Given the description of an element on the screen output the (x, y) to click on. 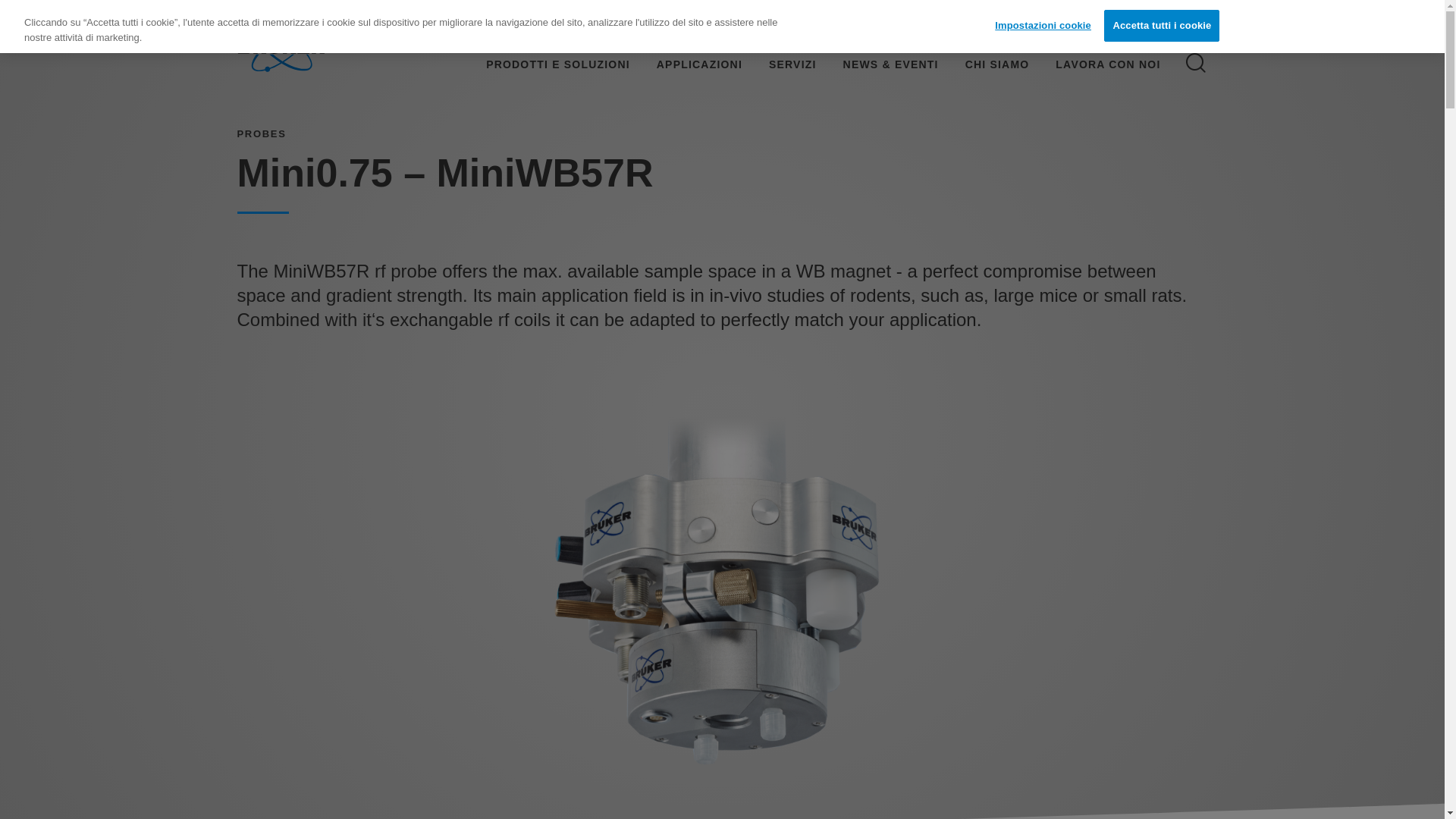
CONTATTA UN ESPERTO (1139, 26)
SERVIZI (793, 64)
MY BRUKER (1009, 26)
LAVORA CON NOI (1116, 64)
CONTATTA UN ESPERTO (1137, 27)
CHI SIAMO (996, 64)
APPLICAZIONI (698, 64)
PRODOTTI E SOLUZIONI (548, 64)
